Given the description of an element on the screen output the (x, y) to click on. 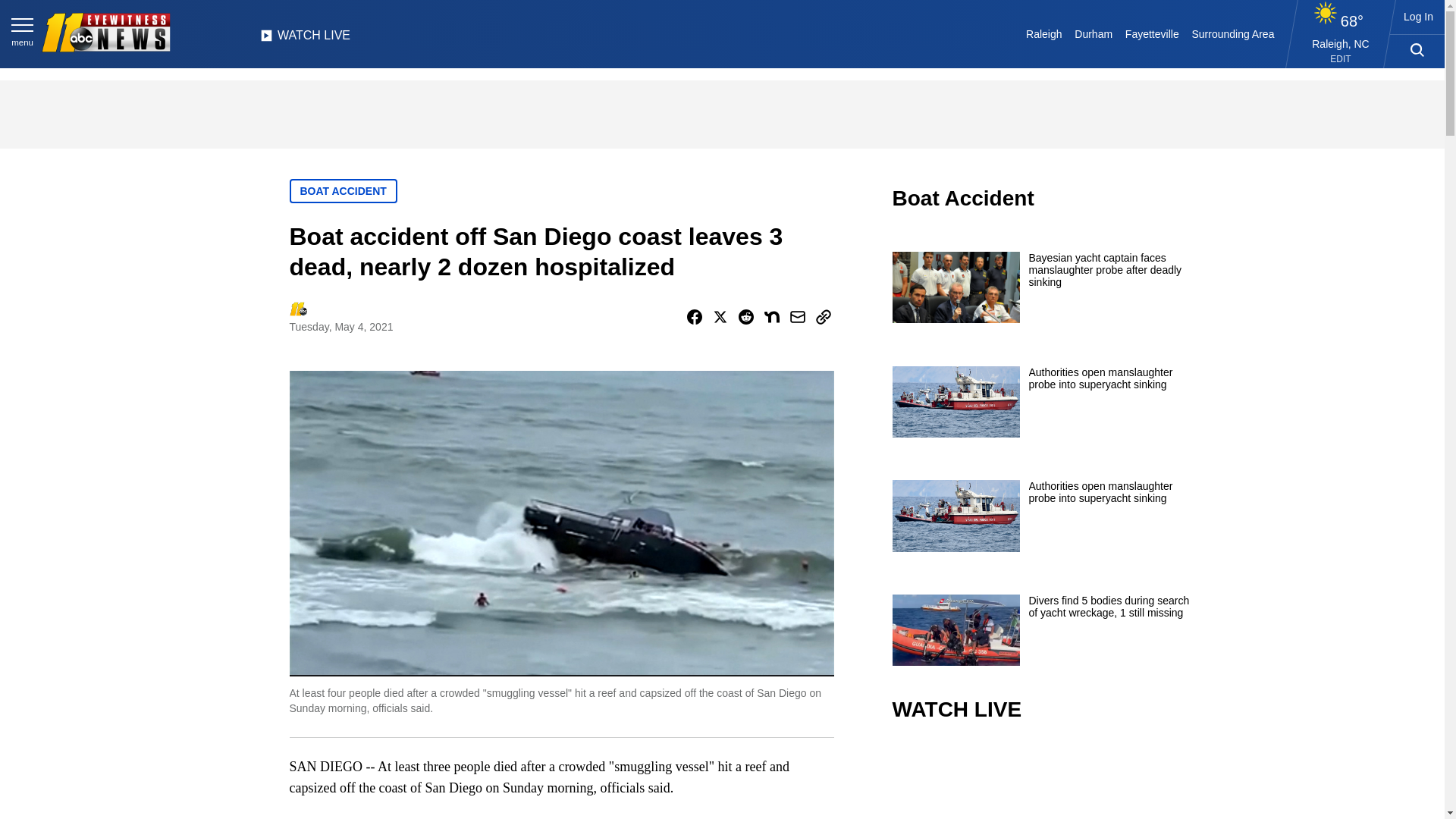
video.title (1043, 781)
Raleigh (1044, 33)
Durham (1093, 33)
Surrounding Area (1233, 33)
EDIT (1340, 59)
WATCH LIVE (305, 39)
Raleigh, NC (1340, 43)
Fayetteville (1151, 33)
